Given the description of an element on the screen output the (x, y) to click on. 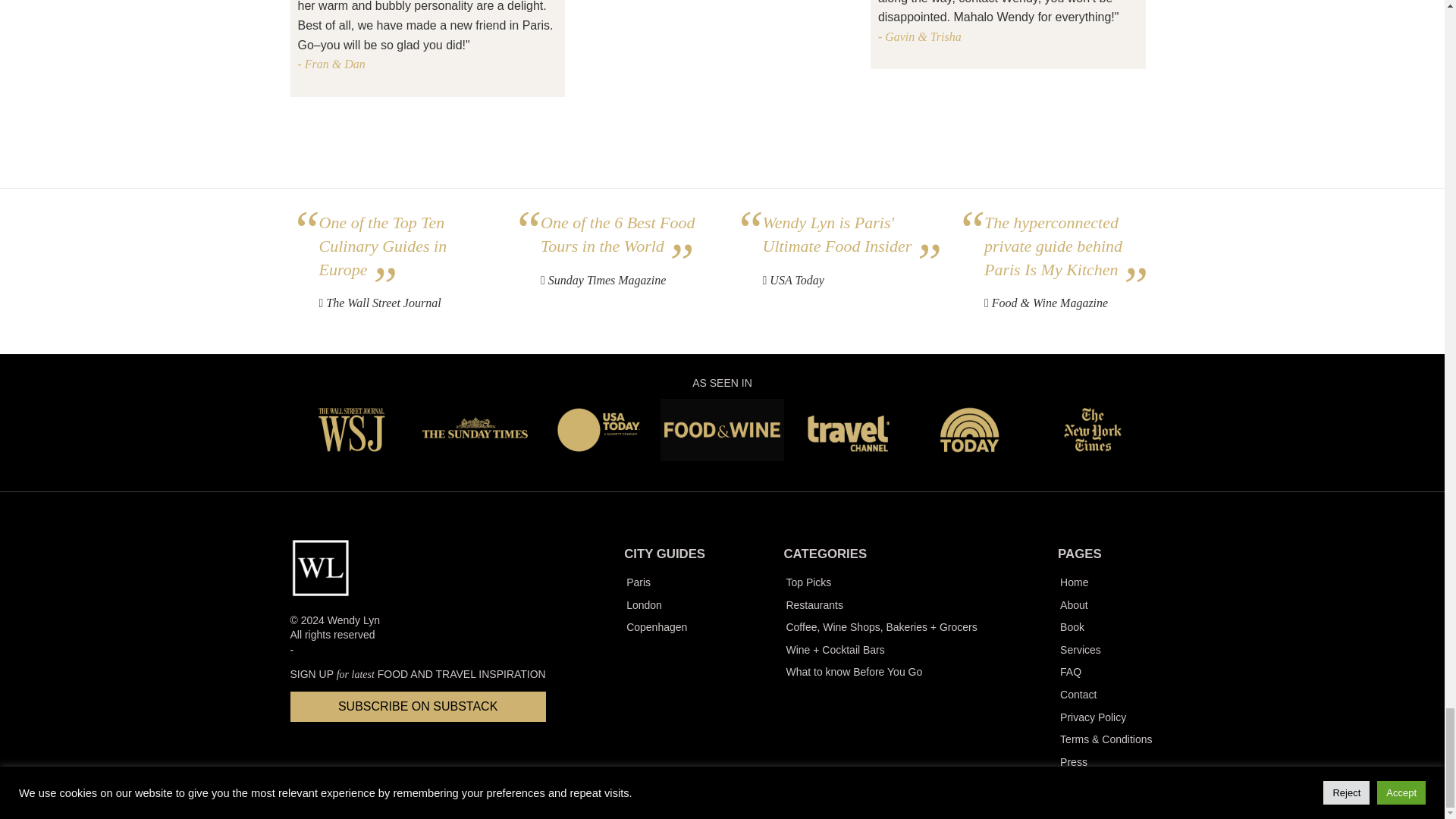
Restaurants (880, 605)
Top Picks (880, 582)
Copenhagen (664, 627)
SUBSCRIBE ON SUBSTACK (416, 706)
London (664, 605)
Paris (664, 582)
